Given the description of an element on the screen output the (x, y) to click on. 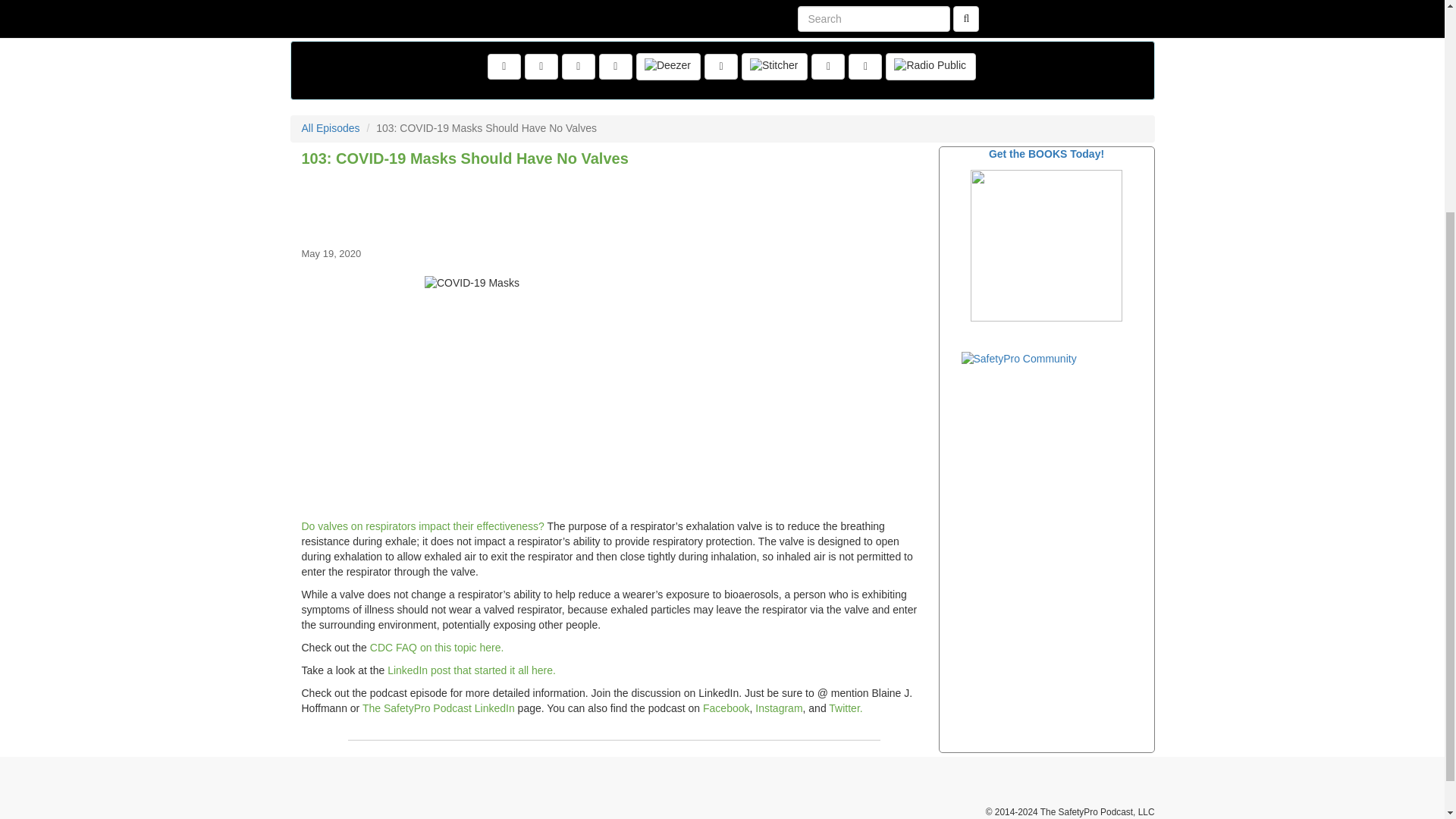
Listen on Stitcher (774, 66)
Listen on Apple Podcasts (721, 66)
Go To YouTube Channel (865, 66)
CDC COVID-19 (436, 647)
Listen on Deezer (668, 66)
Valves on COVID-19 Masks (422, 526)
Visit Us on Twitter (540, 66)
103: COVID-19 Masks Should Have No Valves (614, 204)
Subscribe to RSS Feed (614, 66)
the SafetyPro Podcast Community (1046, 245)
